Given the description of an element on the screen output the (x, y) to click on. 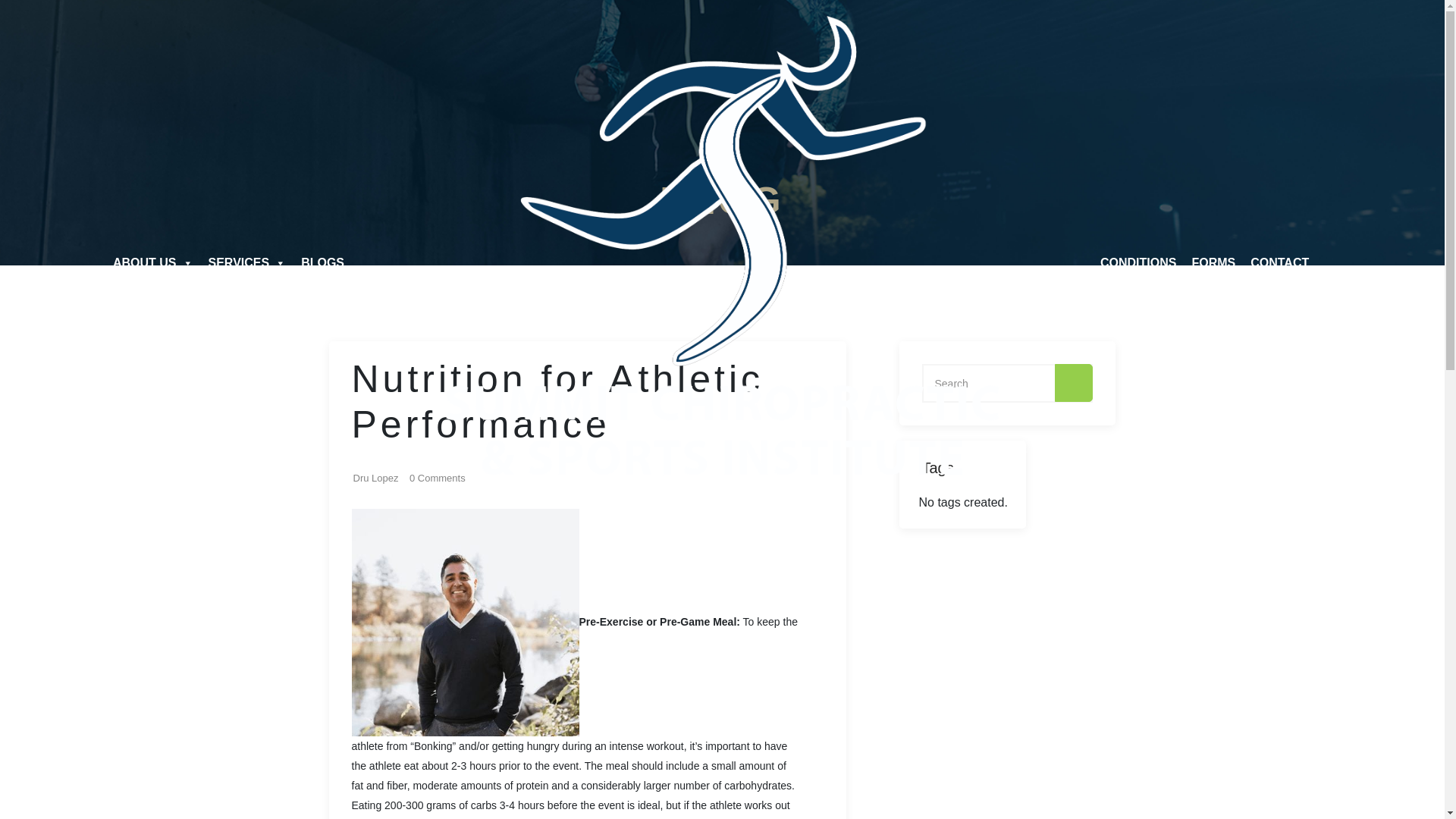
CONTACT (1279, 263)
0 Comments (437, 478)
CONDITIONS (1138, 263)
Dru Lopez (375, 478)
FORMS (1213, 263)
BLOGS (323, 263)
SERVICES (247, 263)
ABOUT US (152, 263)
